Given the description of an element on the screen output the (x, y) to click on. 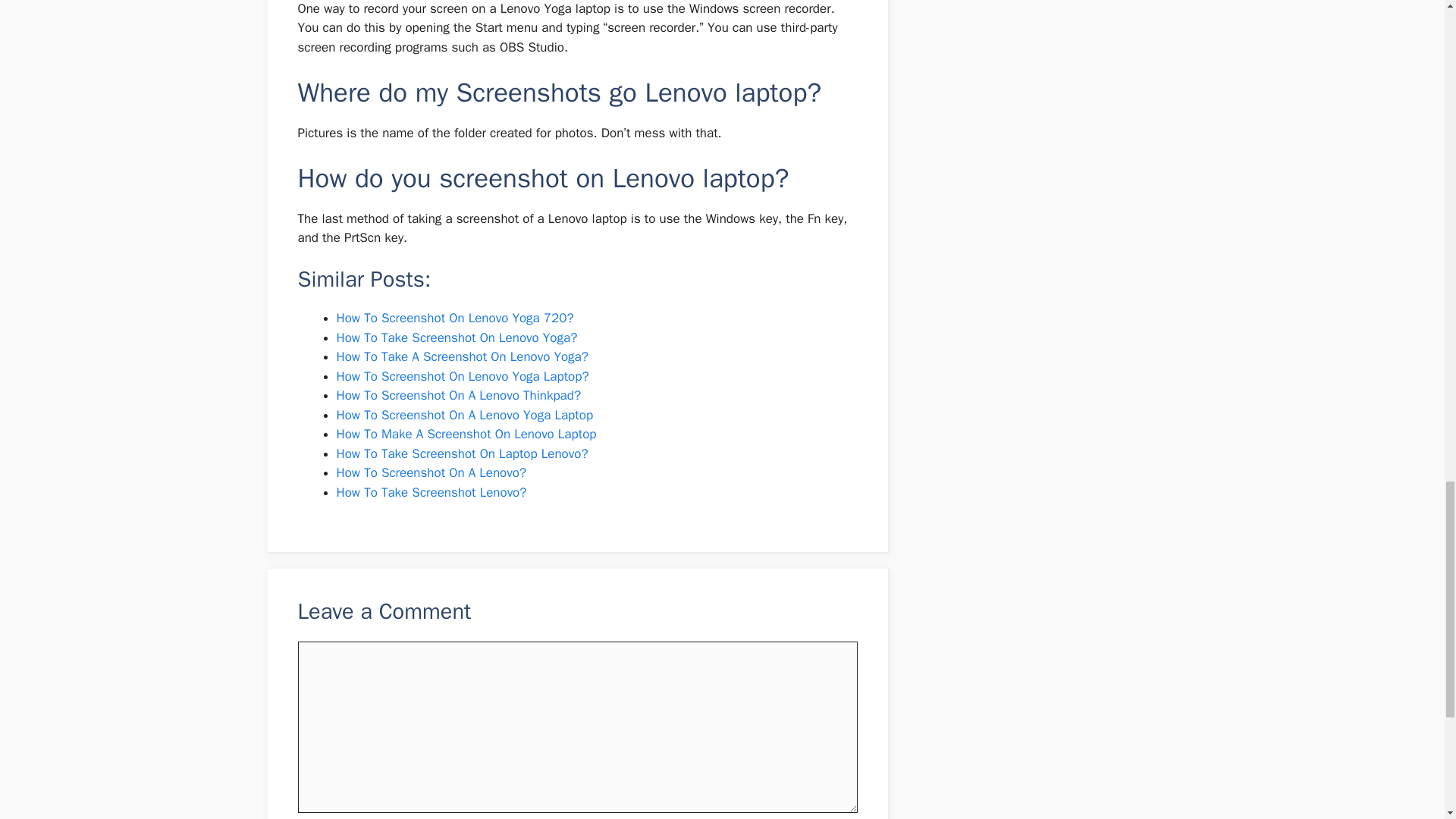
How To Screenshot On A Lenovo? (431, 160)
How To Screenshot On A Lenovo Yoga Laptop (465, 102)
How To Make A Screenshot On Lenovo Laptop (466, 121)
How To Screenshot On A Lenovo? (431, 160)
How To Screenshot On A Lenovo Thinkpad? (458, 82)
How To Take A Screenshot On Lenovo Yoga? (462, 44)
How To Screenshot On Lenovo Yoga Laptop? (462, 64)
How To Take A Screenshot On Lenovo Yoga? (462, 44)
How To Take Screenshot Lenovo? (431, 179)
yes (302, 655)
